Given the description of an element on the screen output the (x, y) to click on. 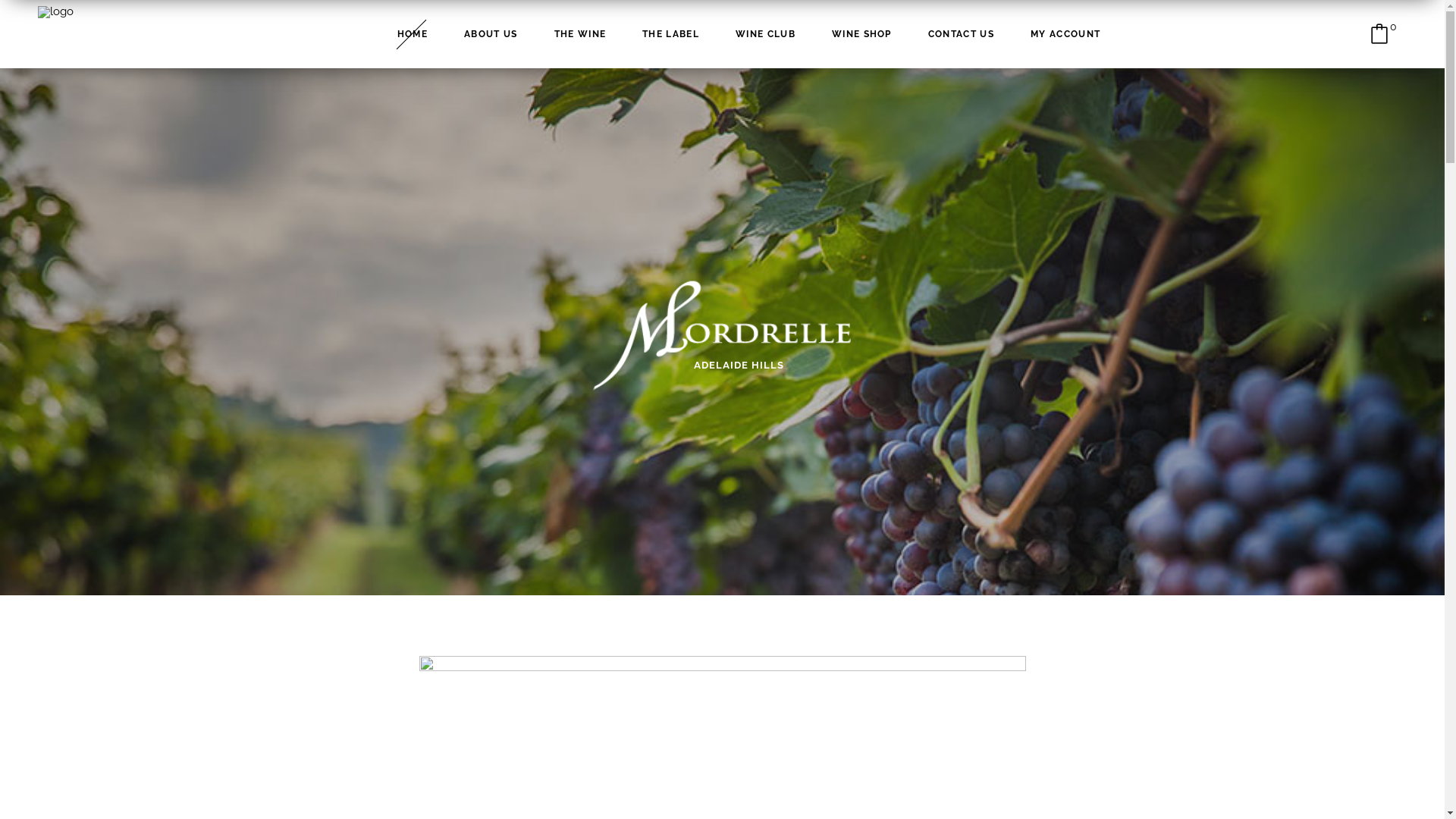
0 Element type: text (1384, 34)
HOME Element type: text (412, 34)
THE LABEL Element type: text (670, 34)
WINE CLUB Element type: text (765, 34)
MY ACCOUNT Element type: text (1065, 34)
WINE SHOP Element type: text (861, 34)
CONTACT US Element type: text (961, 34)
ABOUT US Element type: text (490, 34)
THE WINE Element type: text (580, 34)
